Given the description of an element on the screen output the (x, y) to click on. 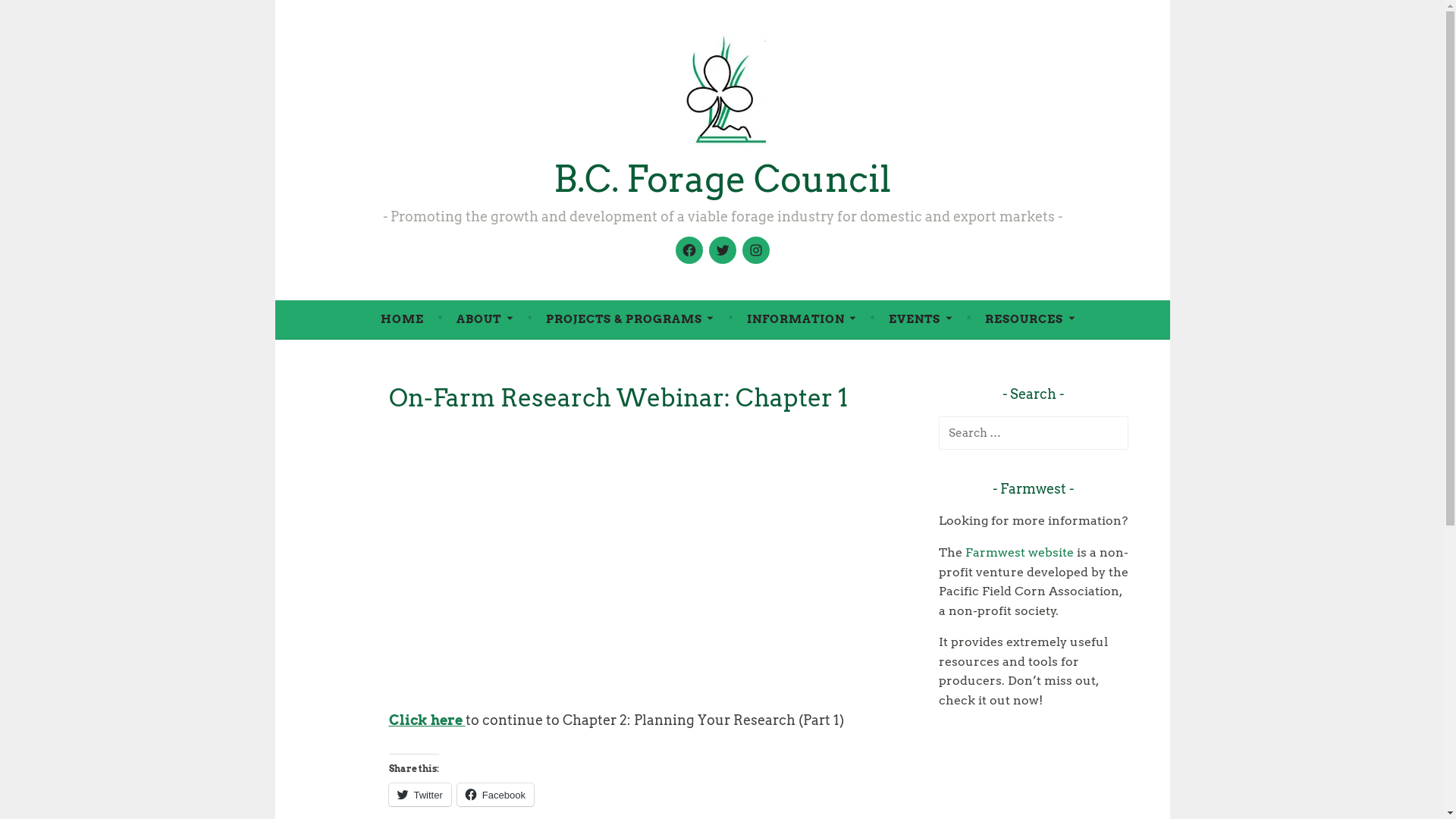
B.C. Forage Council Element type: text (722, 178)
Twitter Element type: text (419, 794)
Facebook Element type: text (688, 249)
Farmwest website Element type: text (1018, 552)
Twitter Element type: text (721, 249)
Click here Element type: text (426, 720)
HOME Element type: text (401, 318)
Search Element type: text (38, 15)
ABOUT Element type: text (484, 318)
RESOURCES Element type: text (1029, 318)
EVENTS Element type: text (919, 318)
PROJECTS & PROGRAMS Element type: text (629, 318)
INFORMATION Element type: text (801, 318)
Facebook Element type: text (495, 794)
Instagram Element type: text (754, 249)
